Given the description of an element on the screen output the (x, y) to click on. 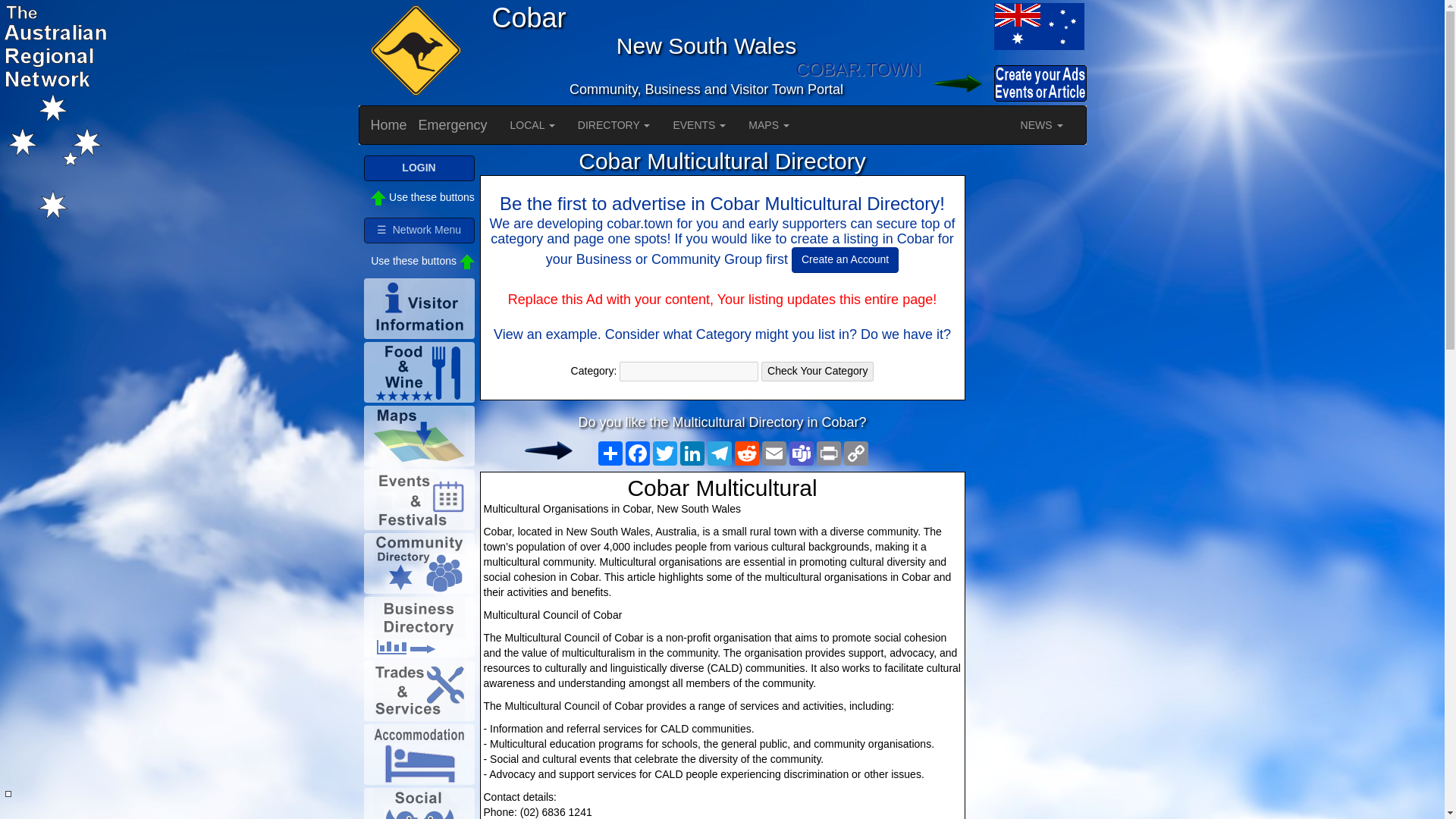
Cobar Skippycoin ICG (413, 52)
Australia (956, 26)
Check Your Category (817, 371)
LOCAL (532, 125)
Please like our Page (548, 450)
Login to cobar.town (956, 83)
DIRECTORY (614, 125)
Cobar Australia (1037, 26)
Home (389, 125)
Emergency (453, 125)
